Given the description of an element on the screen output the (x, y) to click on. 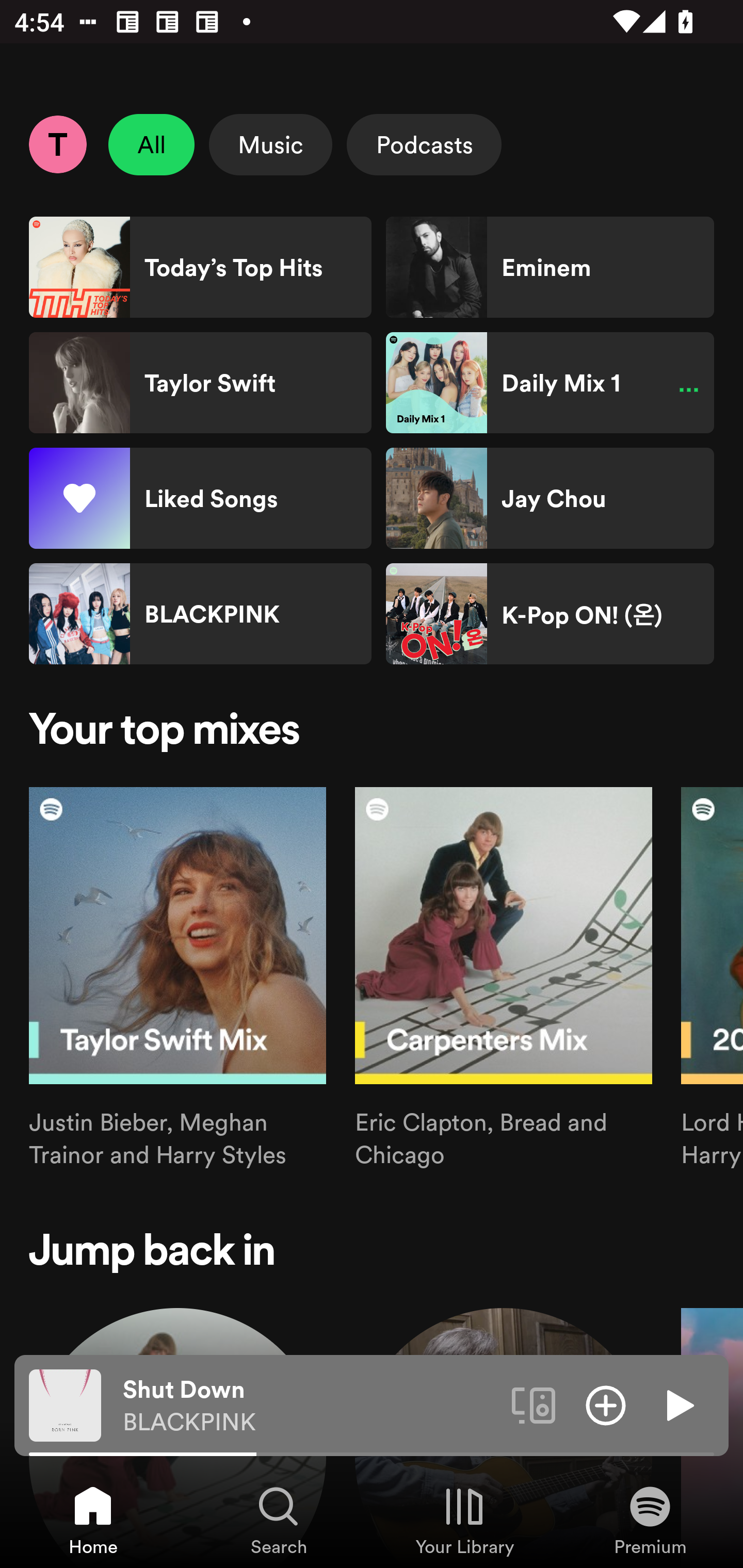
Profile (57, 144)
All Unselect All (151, 144)
Music Select Music (270, 144)
Podcasts Select Podcasts (423, 144)
Today’s Top Hits Shortcut Today’s Top Hits (199, 267)
Eminem Shortcut Eminem (549, 267)
Taylor Swift Shortcut Taylor Swift (199, 382)
Daily Mix 1 Shortcut Daily Mix 1 Paused (549, 382)
Liked Songs Shortcut Liked Songs (199, 498)
Jay Chou Shortcut Jay Chou (549, 498)
BLACKPINK Shortcut BLACKPINK (199, 613)
K-Pop ON! (온) Shortcut K-Pop ON! (온) (549, 613)
Shut Down BLACKPINK (309, 1405)
The cover art of the currently playing track (64, 1404)
Connect to a device. Opens the devices menu (533, 1404)
Add item (605, 1404)
Play (677, 1404)
Home, Tab 1 of 4 Home Home (92, 1519)
Search, Tab 2 of 4 Search Search (278, 1519)
Your Library, Tab 3 of 4 Your Library Your Library (464, 1519)
Premium, Tab 4 of 4 Premium Premium (650, 1519)
